Given the description of an element on the screen output the (x, y) to click on. 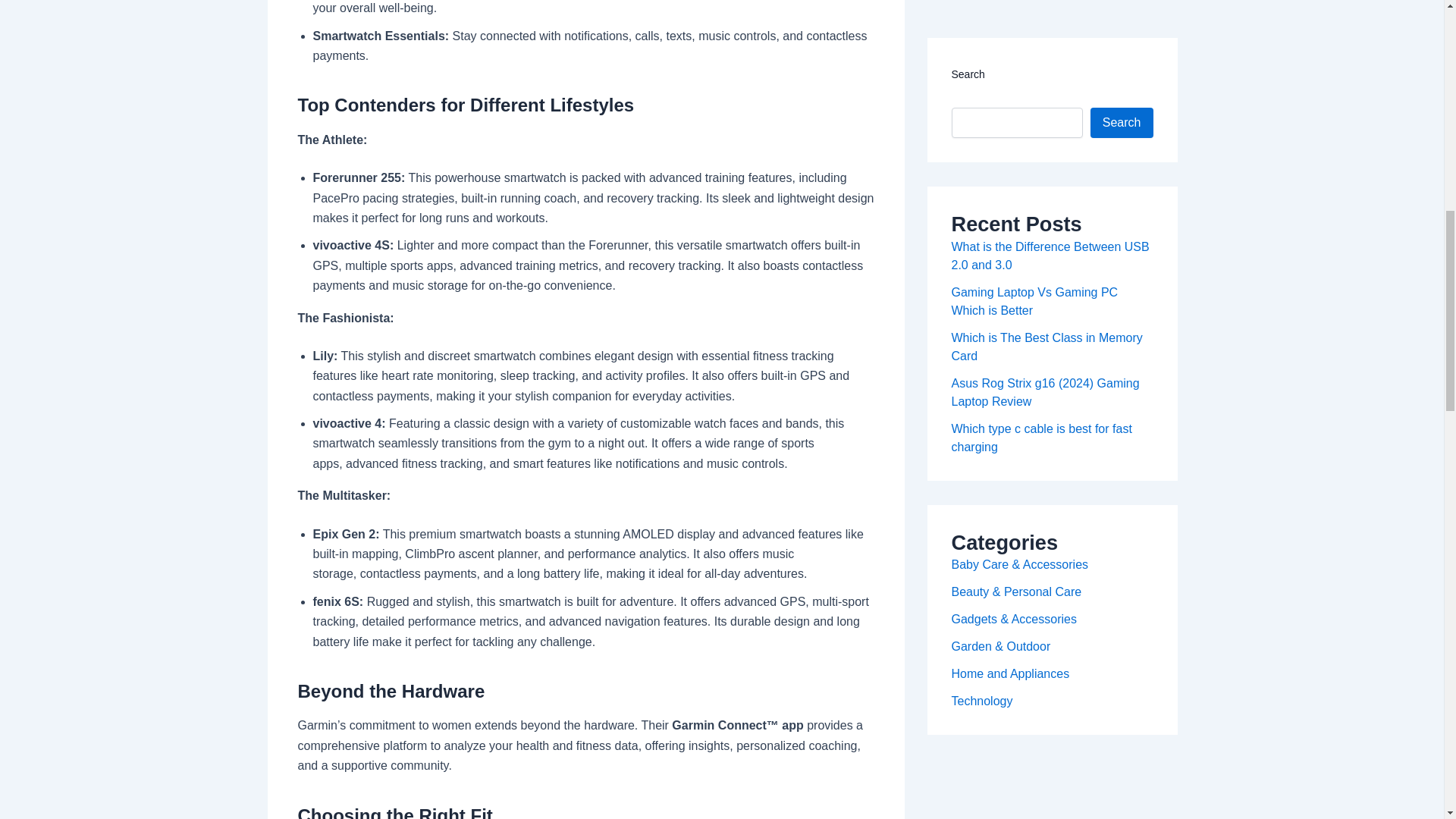
Technology (980, 30)
Home and Appliances (1009, 4)
